Given the description of an element on the screen output the (x, y) to click on. 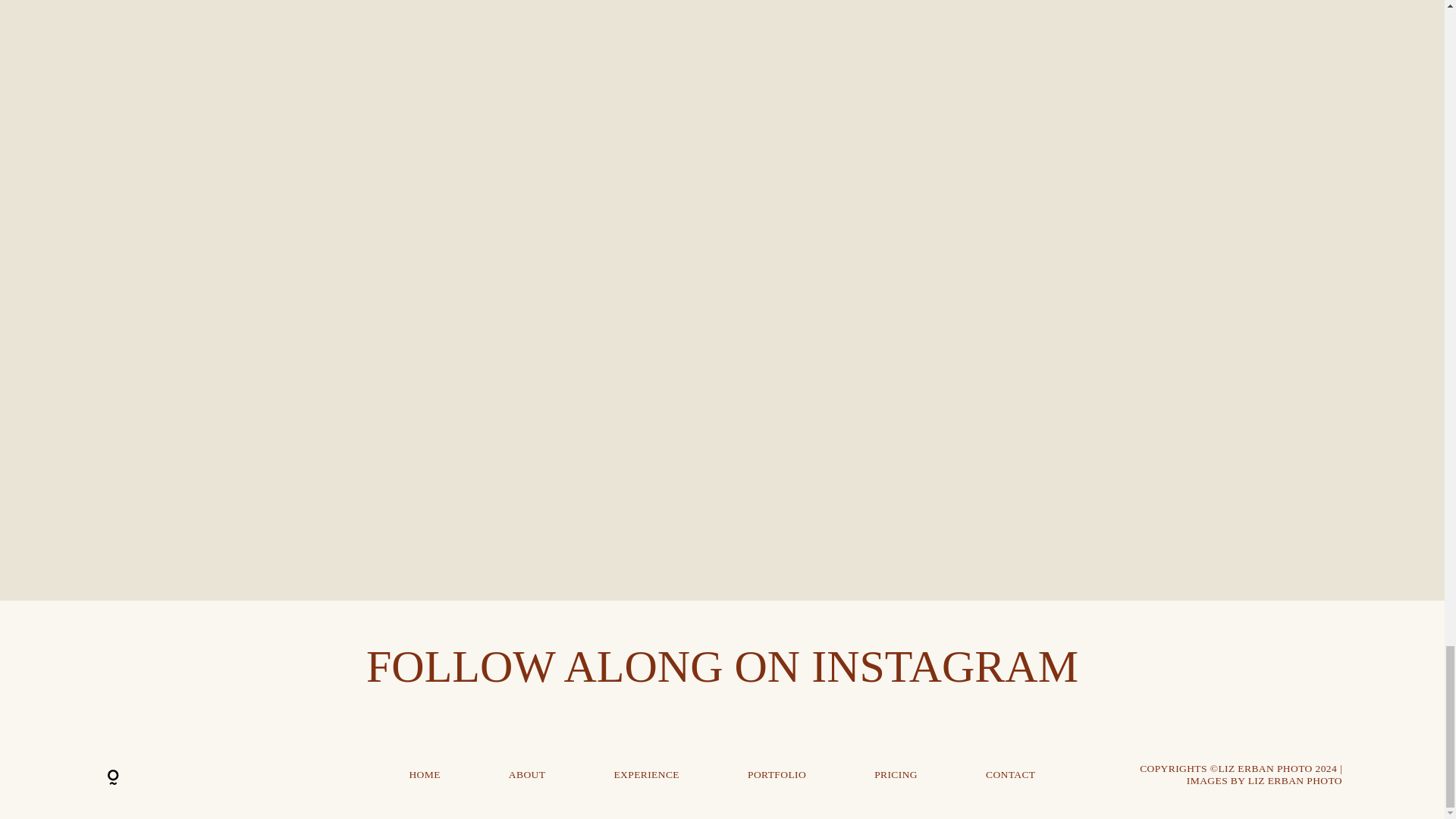
PORTFOLIO (777, 774)
Sorry, your browser does not support inline SVG. (220, 774)
PRICING (896, 774)
HOME (424, 774)
CONTACT (1010, 774)
ABOUT (527, 774)
LIZ ERBAN PHOTO (1294, 780)
Sorry, your browser does not support inline SVG. (112, 777)
EXPERIENCE (645, 774)
